Given the description of an element on the screen output the (x, y) to click on. 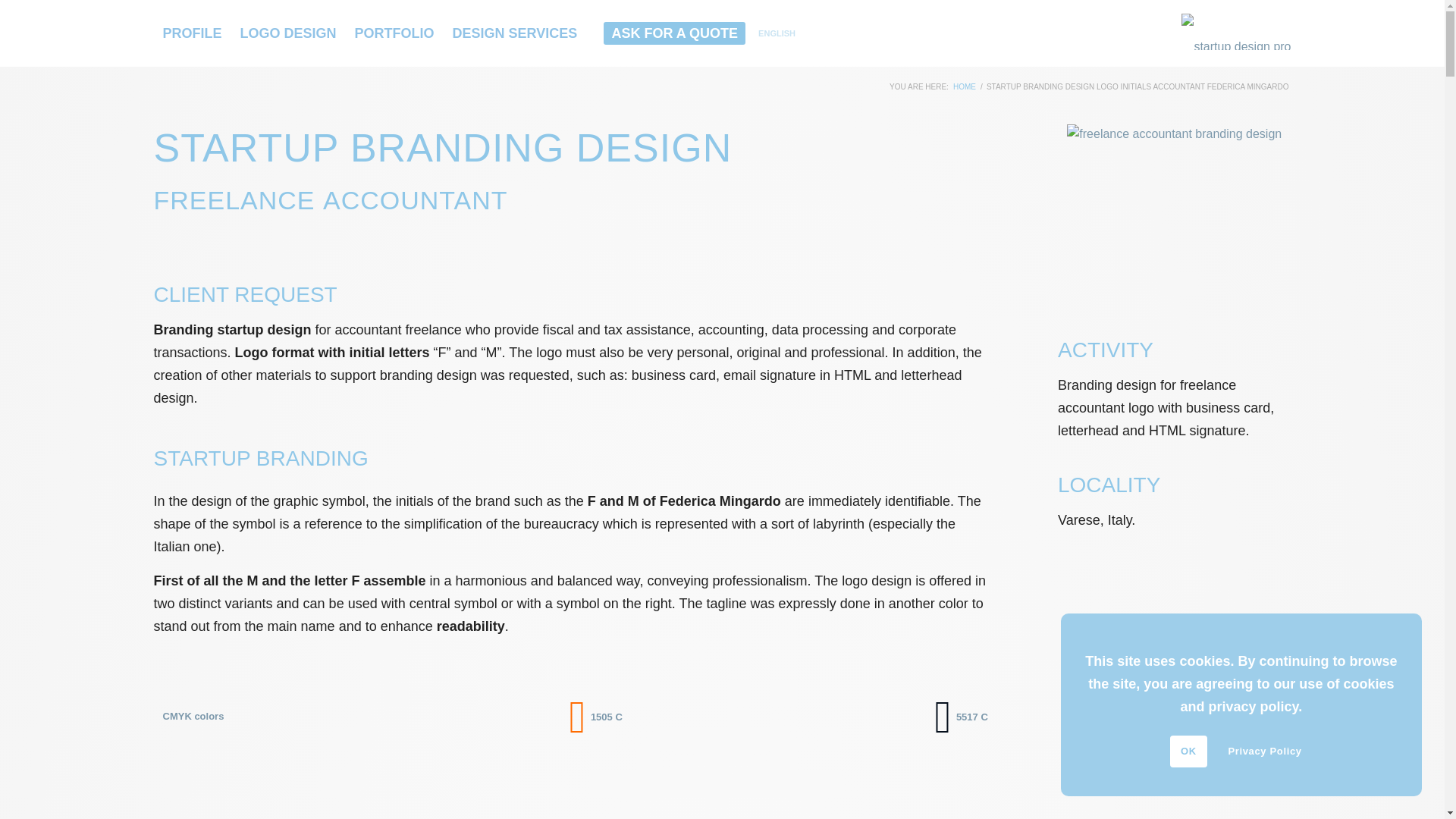
Online logo design request (674, 33)
LOGO DESIGN (288, 33)
PORTFOLIO (395, 33)
ASK FOR A QUOTE (674, 33)
web-startup-design-pro (1235, 33)
Graphic design services for startups (515, 33)
Professional logo design  (288, 33)
DESIGN SERVICES (515, 33)
PROFILE (191, 33)
HOME (964, 86)
Identity Design and logo Portfolio (395, 33)
web-startup-design-pro (1235, 31)
